Given the description of an element on the screen output the (x, y) to click on. 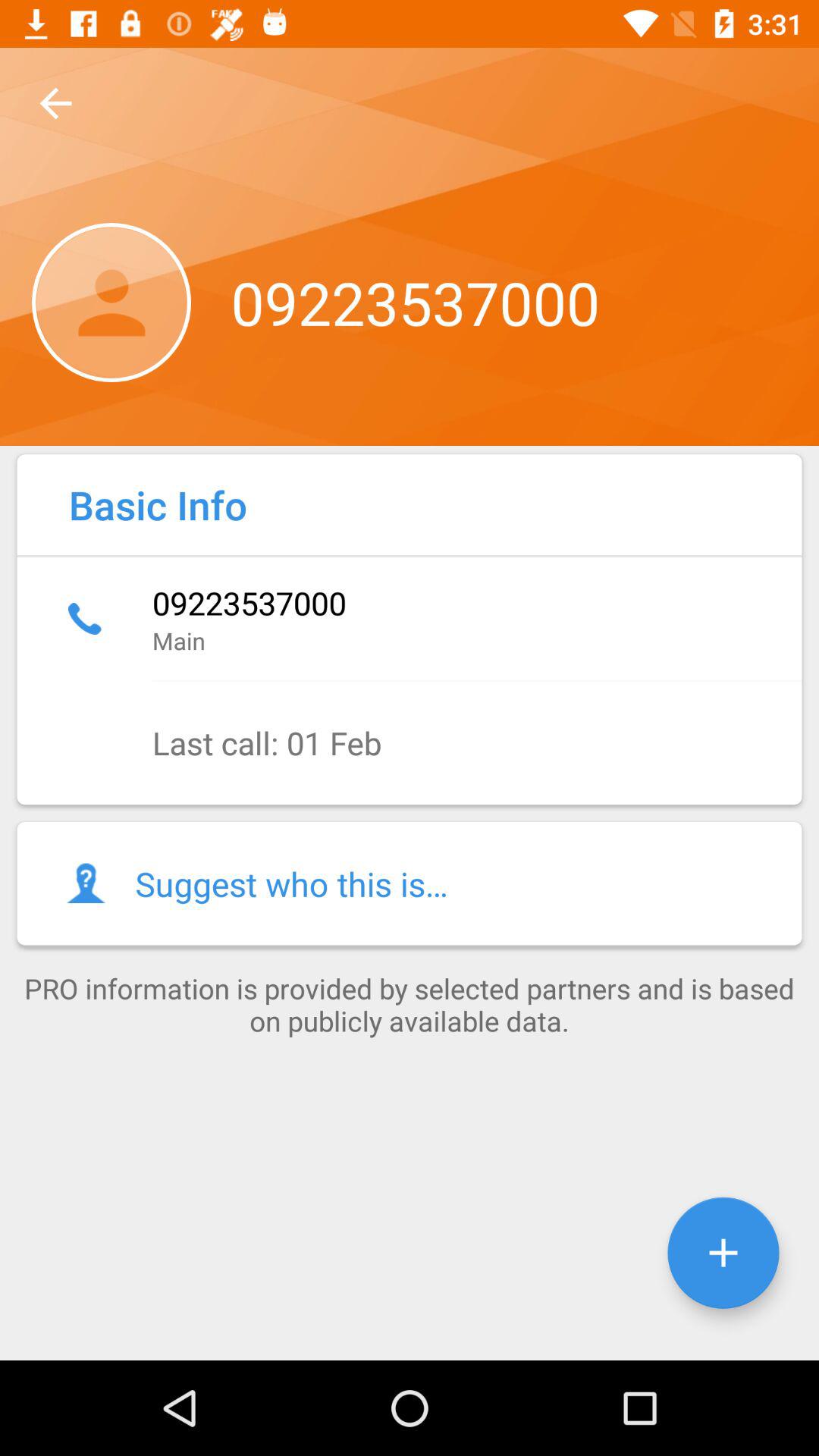
select item below main (409, 742)
